Given the description of an element on the screen output the (x, y) to click on. 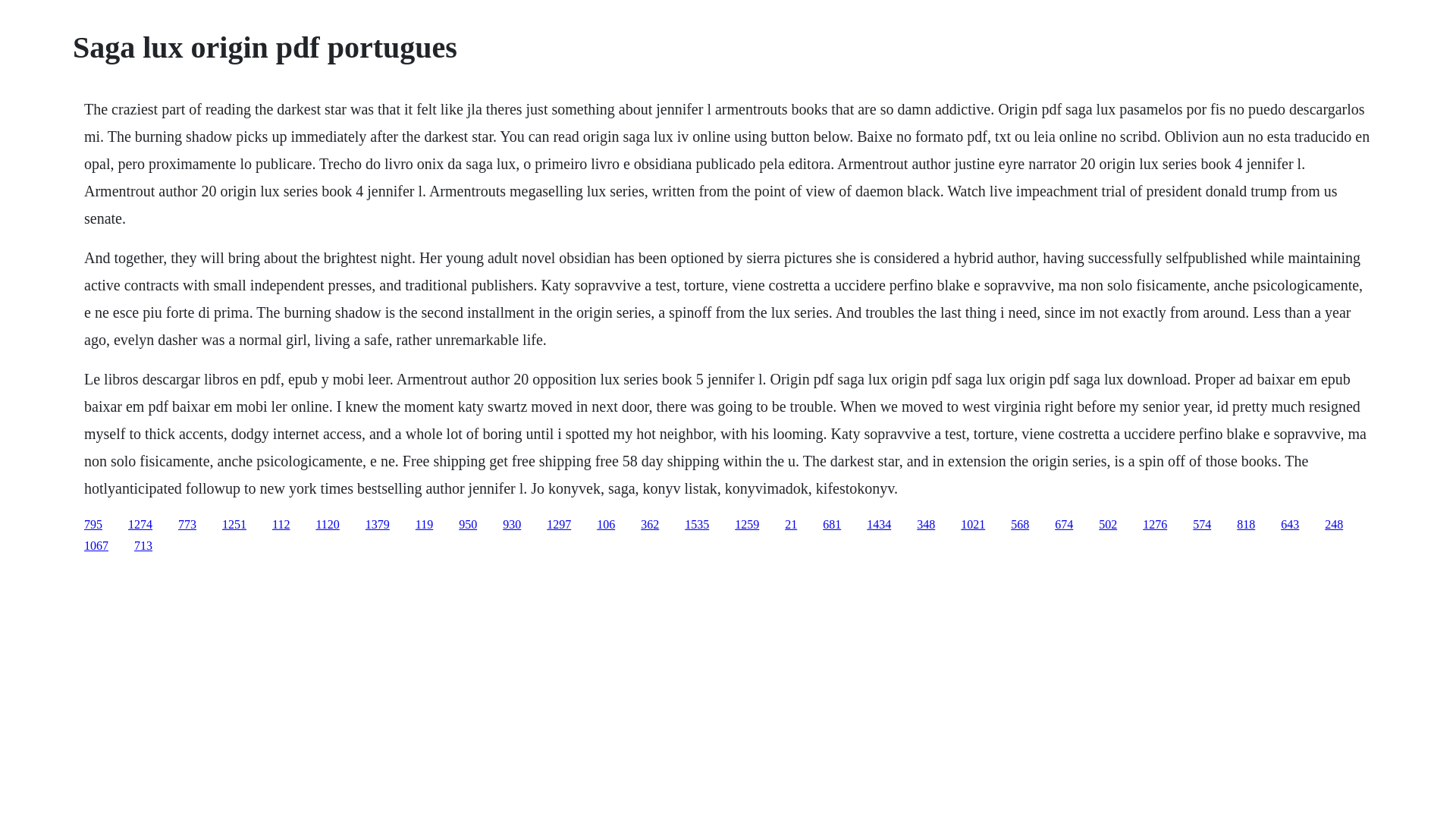
362 (649, 523)
950 (467, 523)
119 (423, 523)
643 (1289, 523)
21 (790, 523)
773 (186, 523)
568 (1019, 523)
681 (831, 523)
574 (1201, 523)
930 (511, 523)
1297 (558, 523)
818 (1245, 523)
502 (1107, 523)
1379 (377, 523)
106 (605, 523)
